Given the description of an element on the screen output the (x, y) to click on. 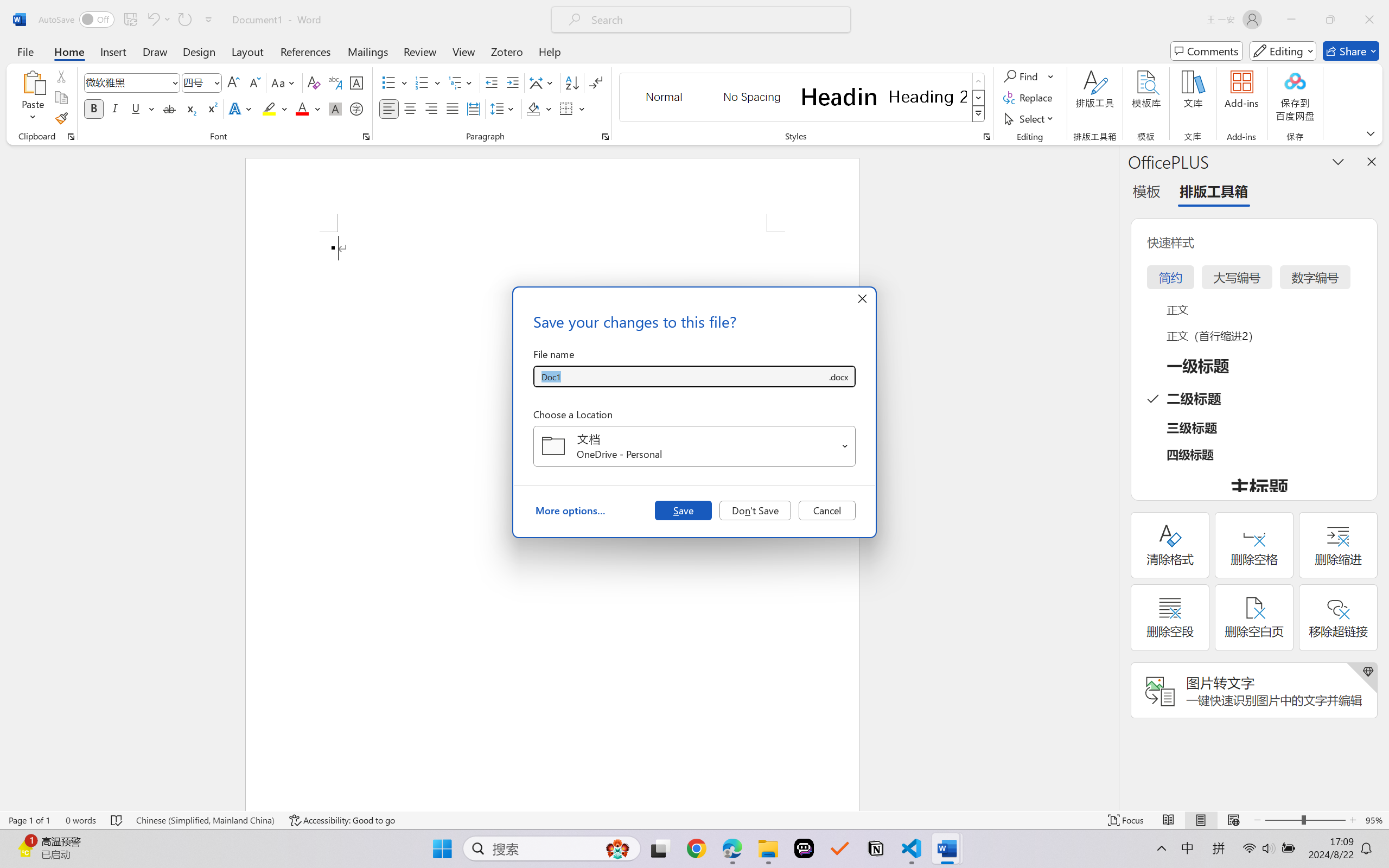
Cancel (826, 509)
Zoom 95% (1374, 819)
